Given the description of an element on the screen output the (x, y) to click on. 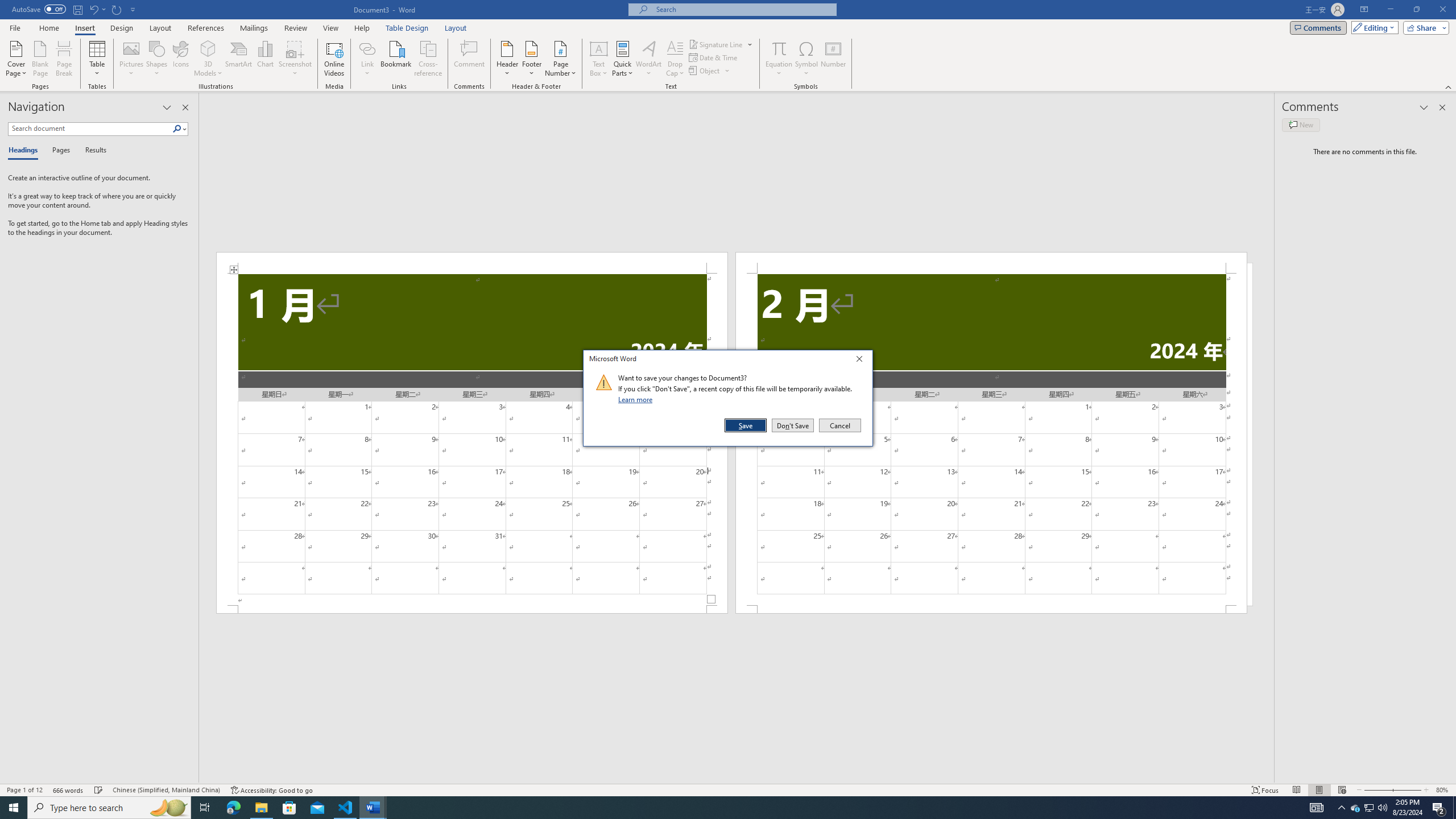
Equation (778, 48)
Comment (469, 58)
Link (367, 48)
Object... (705, 69)
Search document (89, 128)
Results (91, 150)
Footer (531, 58)
Bookmark... (396, 58)
Page Number Page 1 of 12 (24, 790)
Class: NetUIScrollBar (736, 778)
